Given the description of an element on the screen output the (x, y) to click on. 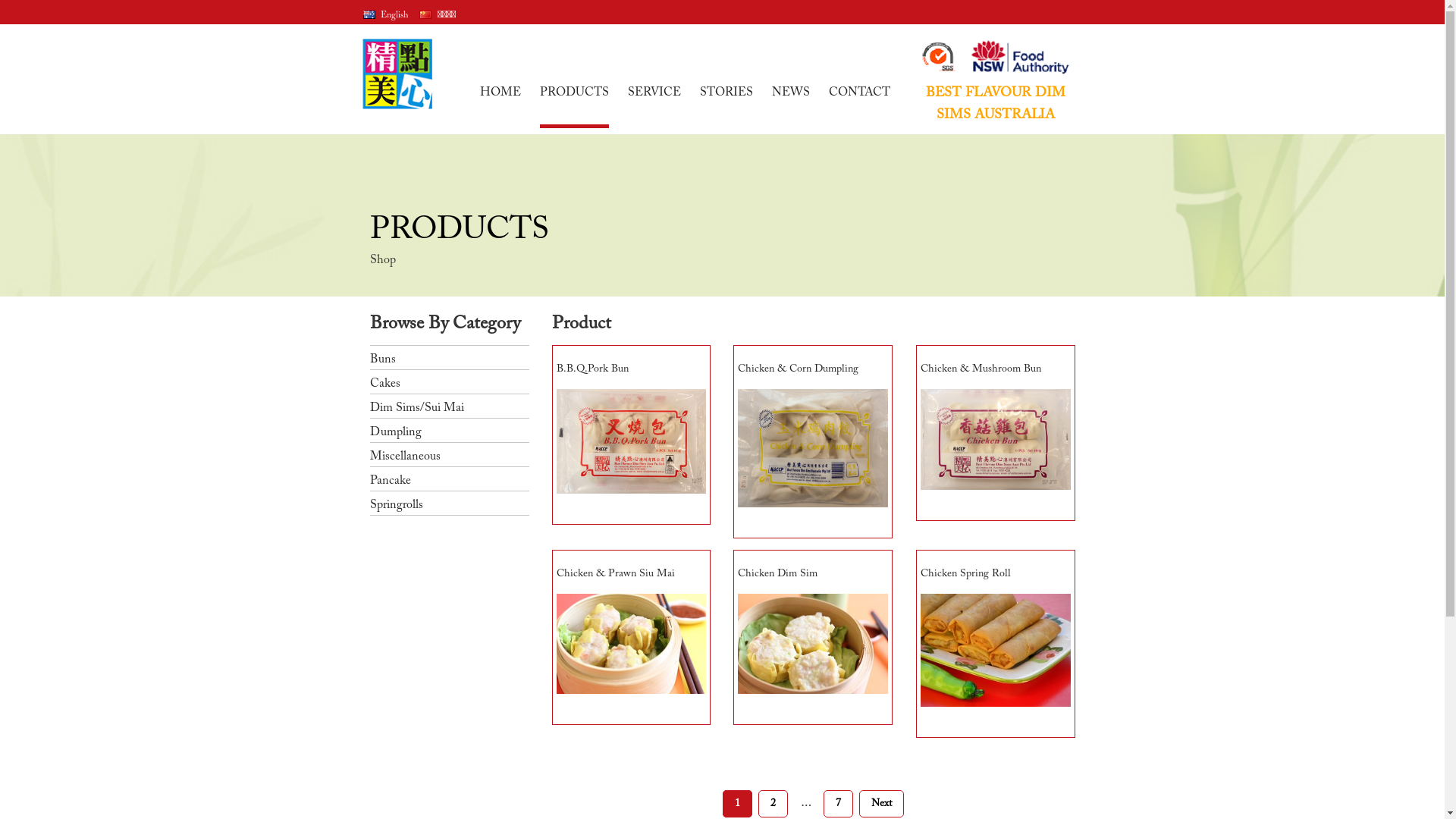
Next Element type: text (881, 803)
Buns Element type: text (449, 357)
Chicken & Prawn Siu Mai Element type: text (631, 636)
PRODUCTS Element type: text (573, 107)
HOME Element type: text (499, 107)
Chicken Spring Roll Element type: text (995, 643)
Chicken & Mushroom Bun Element type: text (995, 432)
NEWS Element type: text (790, 107)
Cakes Element type: text (449, 382)
B.B.Q.Pork Bun Element type: text (631, 434)
7 Element type: text (838, 803)
Pancake Element type: text (449, 479)
CONTACT Element type: text (858, 107)
Chicken & Corn Dumpling Element type: text (812, 441)
STORIES Element type: text (725, 107)
English Element type: text (384, 14)
Springrolls Element type: text (449, 503)
SERVICE Element type: text (653, 107)
2 Element type: text (772, 803)
Chicken Dim Sim Element type: text (812, 636)
Dim Sims/Sui Mai Element type: text (449, 406)
Miscellaneous Element type: text (449, 454)
Dumpling Element type: text (449, 430)
